Given the description of an element on the screen output the (x, y) to click on. 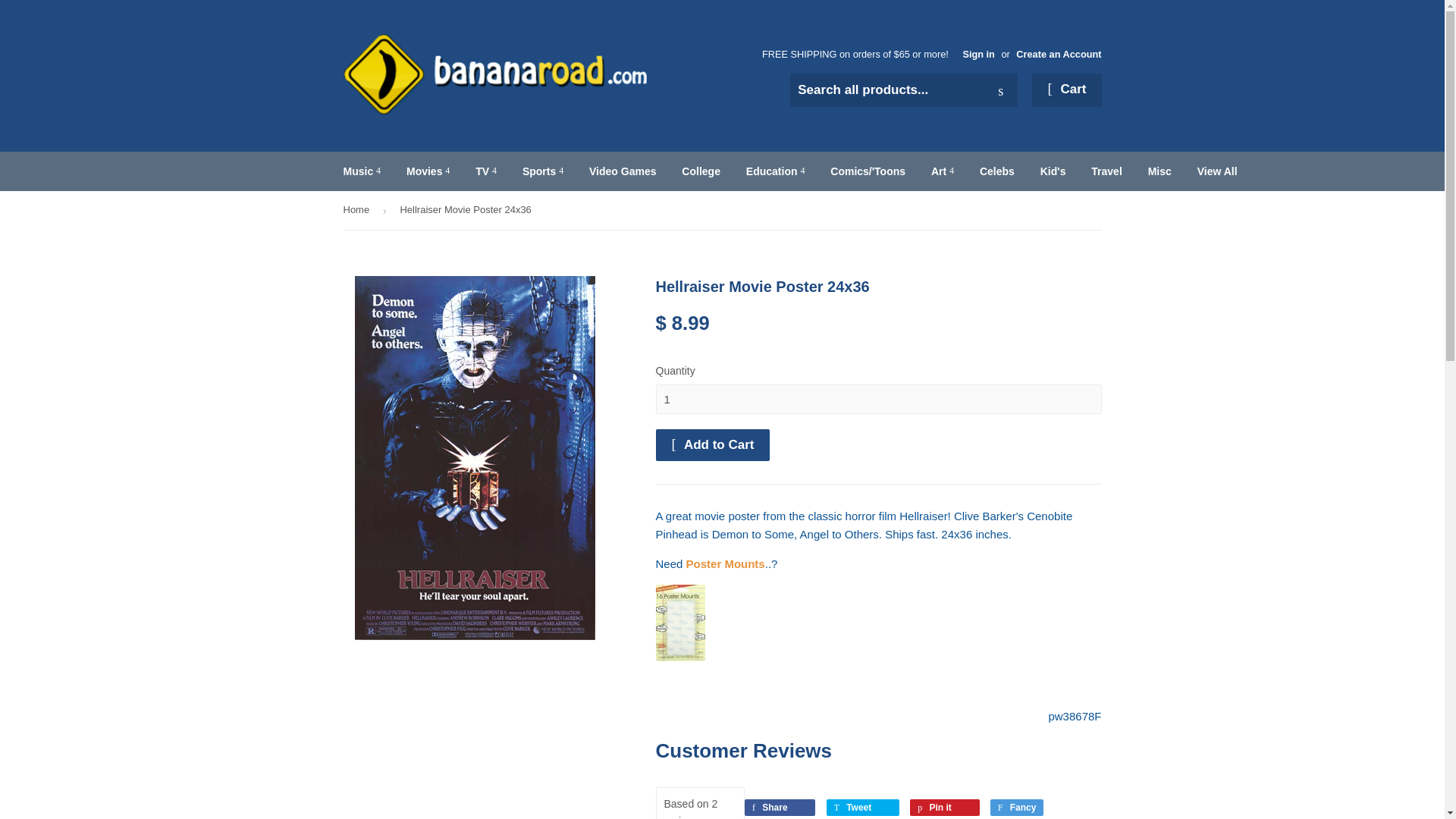
Cart (1066, 90)
Music (362, 170)
Sign in (978, 53)
Create an Account (1058, 53)
1 (877, 399)
Movies (427, 170)
Poster Mounts (725, 563)
Poster Mounts (679, 656)
Search (1000, 91)
